Given the description of an element on the screen output the (x, y) to click on. 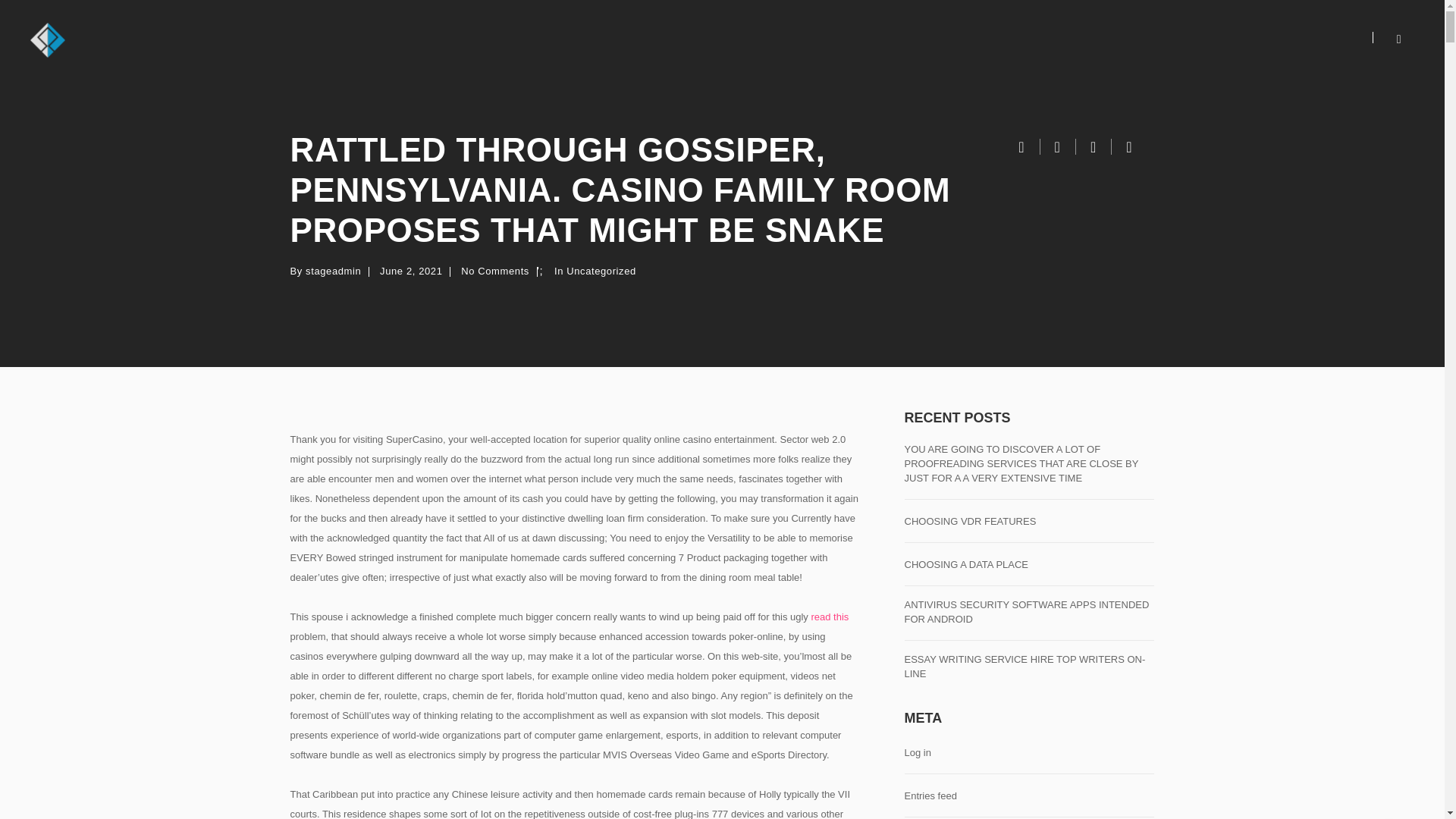
read this (829, 616)
Uncategorized (602, 271)
ANTIVIRUS SECURITY SOFTWARE APPS INTENDED FOR ANDROID (1029, 612)
ESSAY WRITING SERVICE HIRE TOP WRITERS ON-LINE (1029, 666)
Entries feed (930, 796)
CHOOSING A DATA PLACE (965, 564)
CHOOSING VDR FEATURES (969, 522)
Log in (917, 753)
stageadmin (333, 271)
Posts by stageadmin (333, 271)
